Given the description of an element on the screen output the (x, y) to click on. 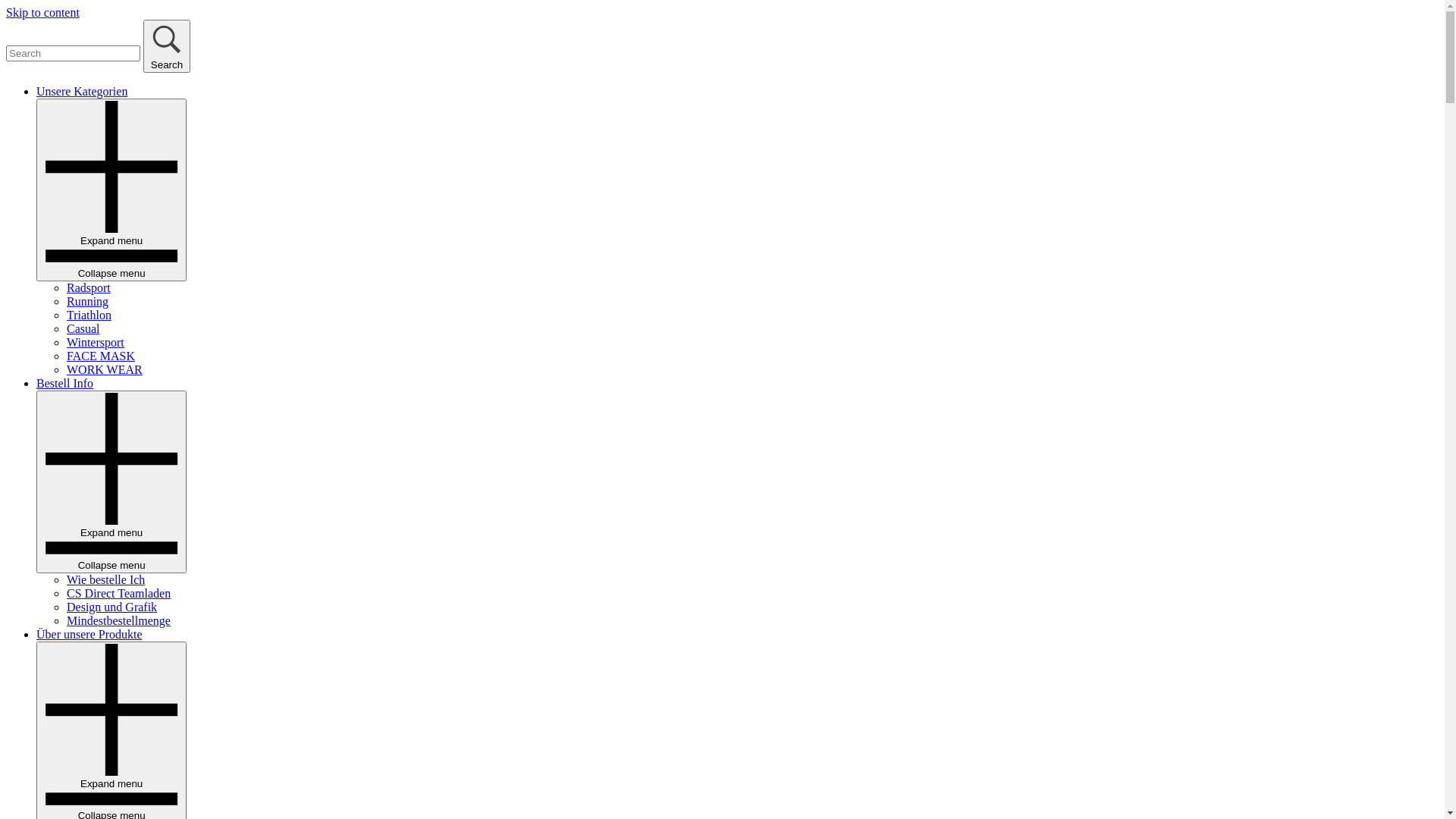
Bestell Info Element type: text (64, 382)
Expand menu Collapse menu Element type: text (111, 189)
Design und Grafik Element type: text (111, 606)
Unsere Kategorien Element type: text (81, 90)
WORK WEAR Element type: text (104, 369)
Skip to content Element type: text (42, 12)
Casual Element type: text (83, 328)
CS Direct Teamladen Element type: text (118, 592)
Search Element type: text (166, 45)
Mindestbestellmenge Element type: text (118, 620)
Radsport Element type: text (88, 287)
Wintersport Element type: text (95, 341)
Triathlon Element type: text (88, 314)
FACE MASK Element type: text (100, 355)
Expand menu Collapse menu Element type: text (111, 481)
Running Element type: text (87, 300)
Wie bestelle Ich Element type: text (105, 579)
